Given the description of an element on the screen output the (x, y) to click on. 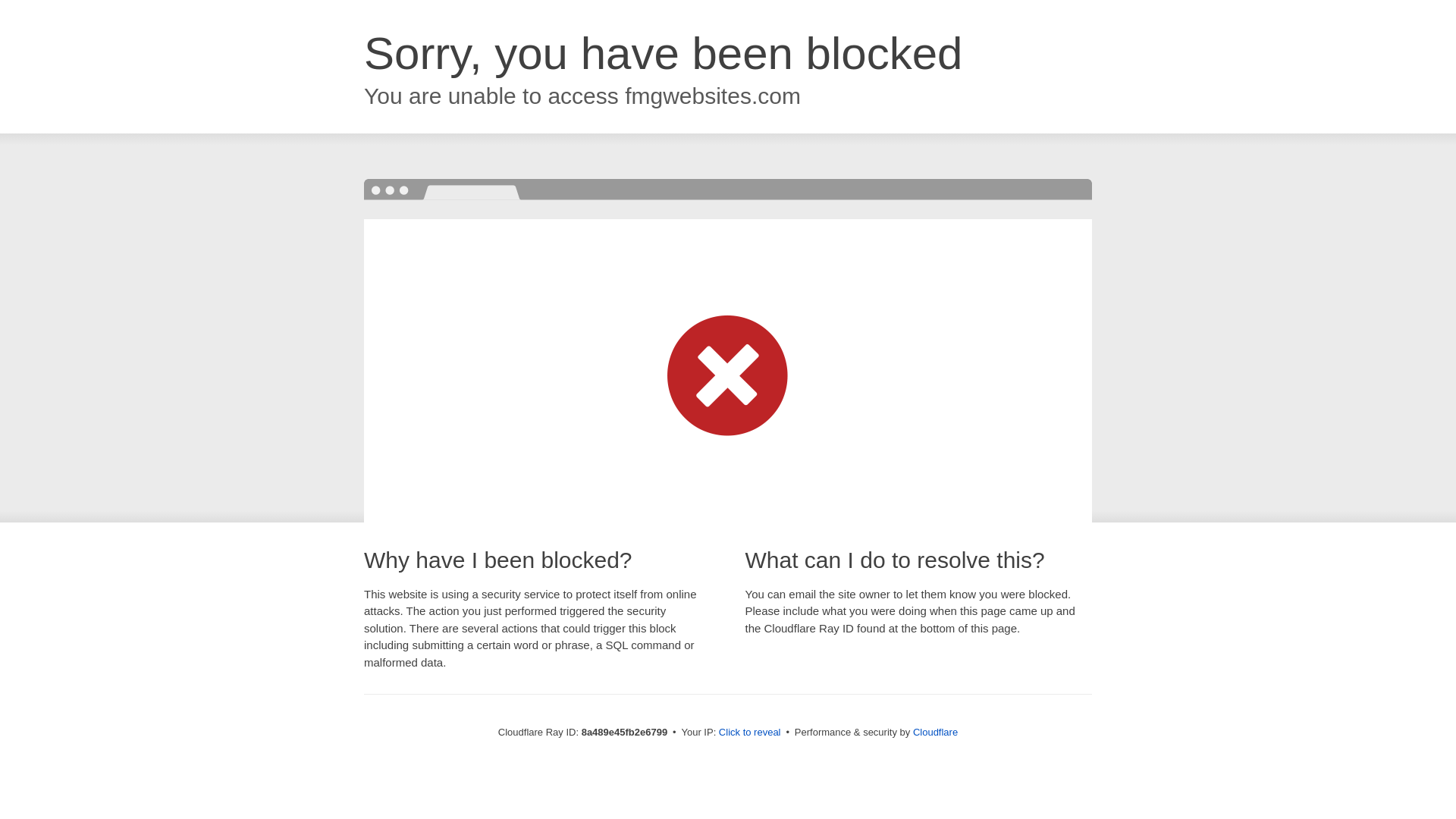
Click to reveal (749, 732)
Cloudflare (935, 731)
